Given the description of an element on the screen output the (x, y) to click on. 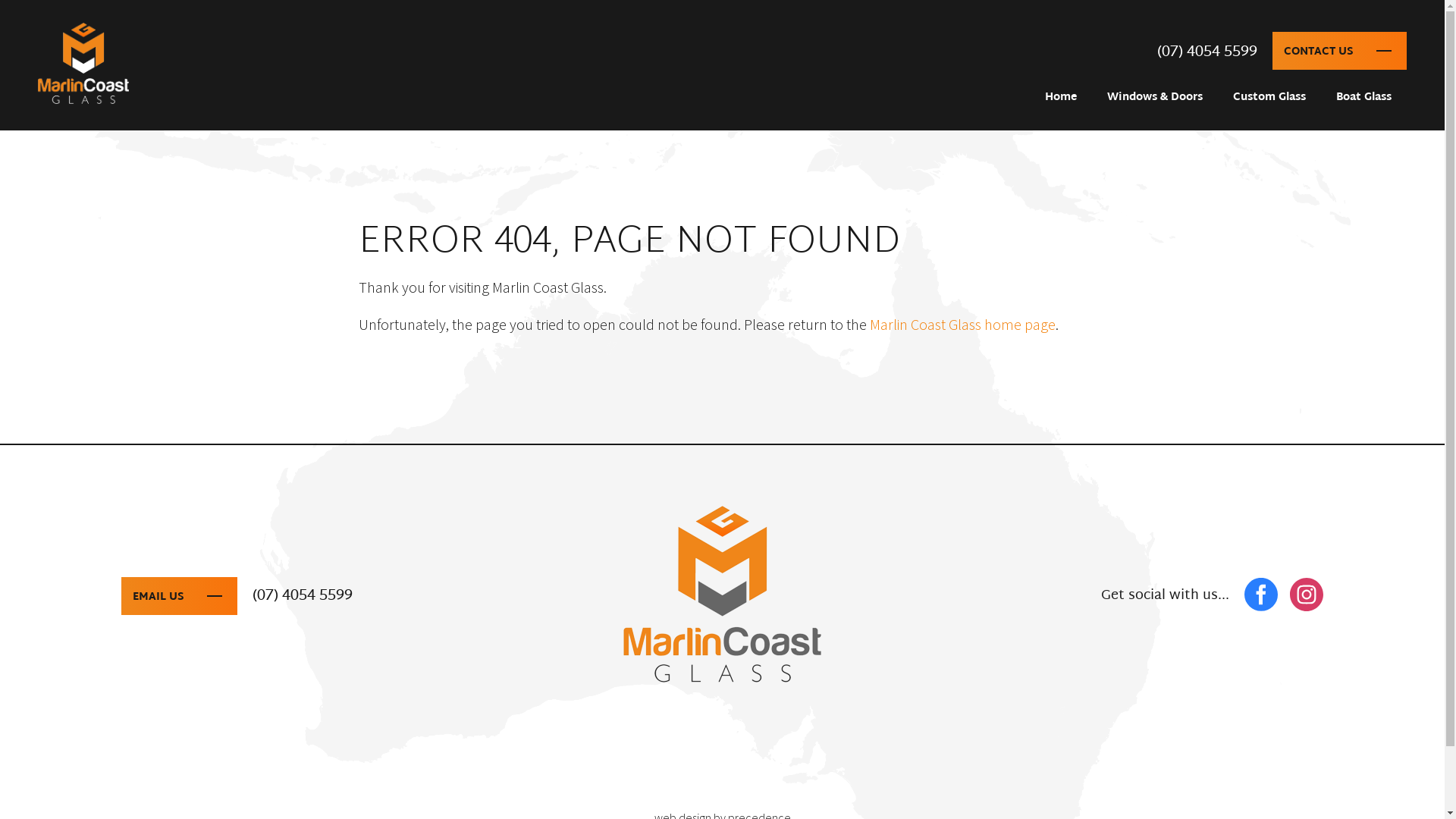
Find Marlin Coast Glass on Facebook Element type: hover (1260, 594)
Home Element type: text (1060, 97)
EMAIL US Element type: text (158, 596)
Marlin Coast Glass home page Element type: text (962, 323)
Connect with Marlin Coast Glass on Instagram Element type: hover (1306, 594)
Custom Glass Element type: text (1269, 97)
CONTACT US Element type: text (1339, 50)
Boat Glass Element type: text (1363, 97)
(07) 4054 5599 Element type: text (1207, 51)
Windows & Doors Element type: text (1154, 97)
(07) 4054 5599 Element type: text (302, 595)
